Given the description of an element on the screen output the (x, y) to click on. 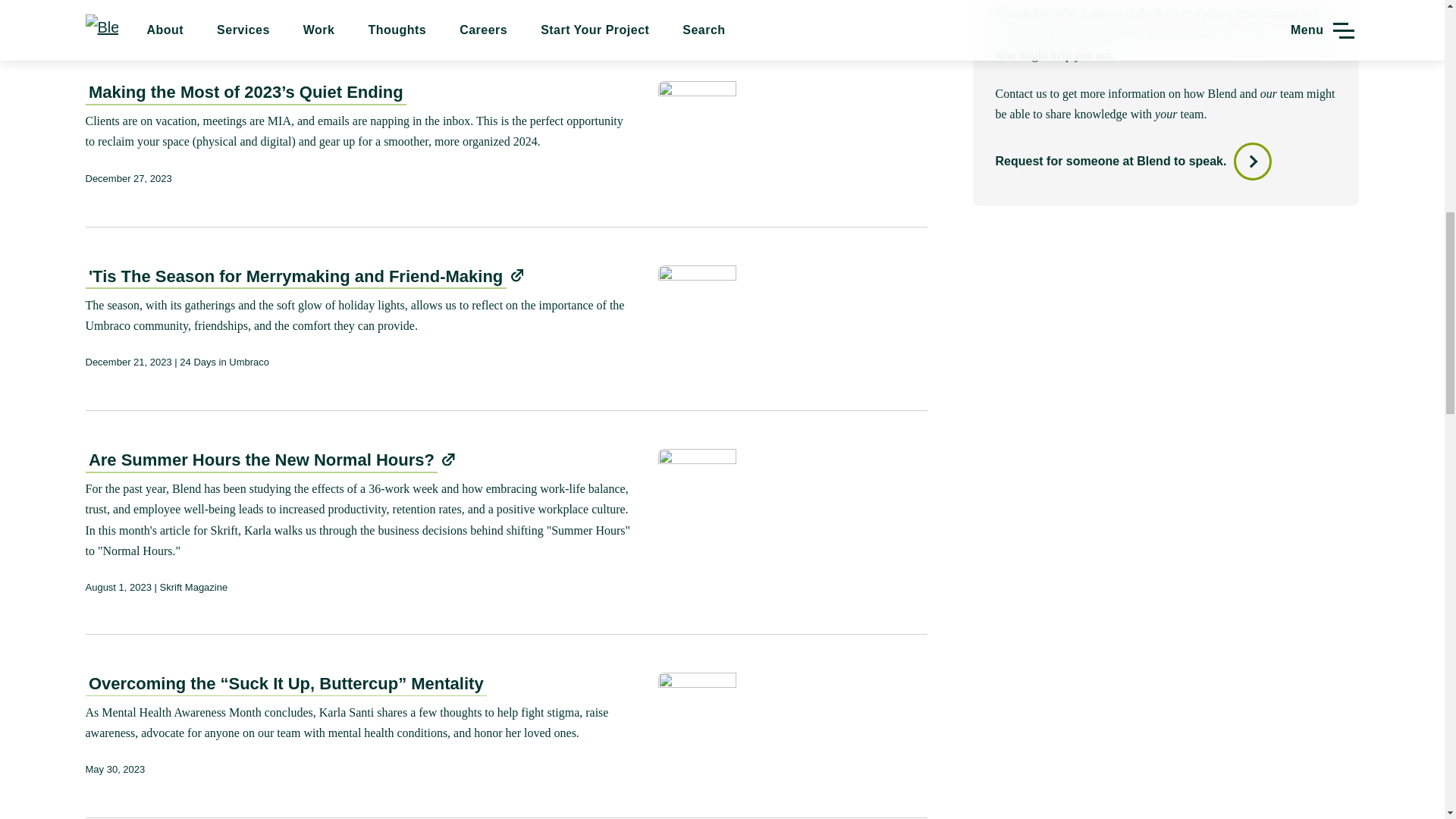
Request for someone at Blend to speak. (1132, 161)
'Tis The Season for Merrymaking and Friend-Making (294, 277)
